Given the description of an element on the screen output the (x, y) to click on. 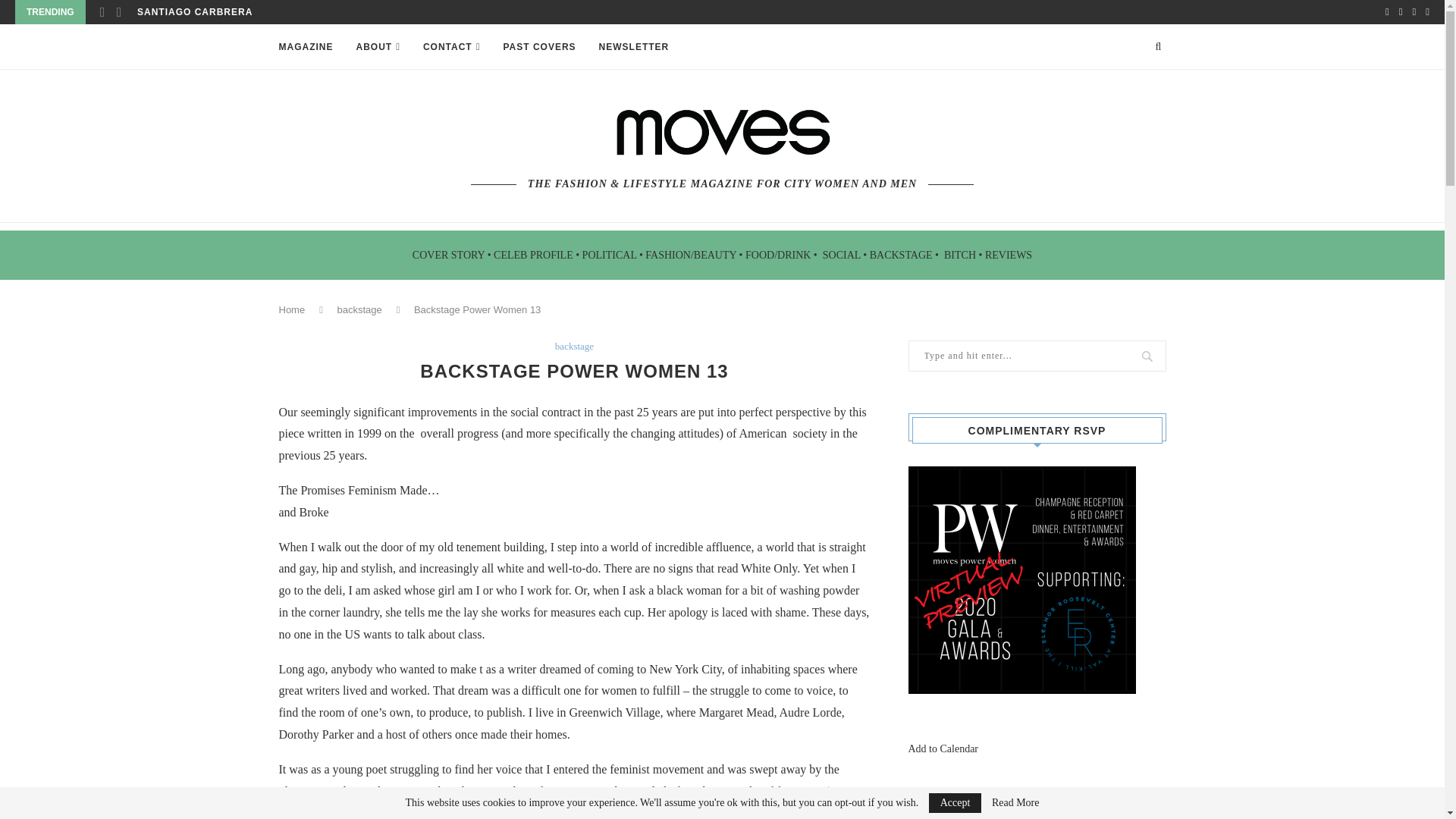
SANTIAGO CARBRERA (193, 12)
